Given the description of an element on the screen output the (x, y) to click on. 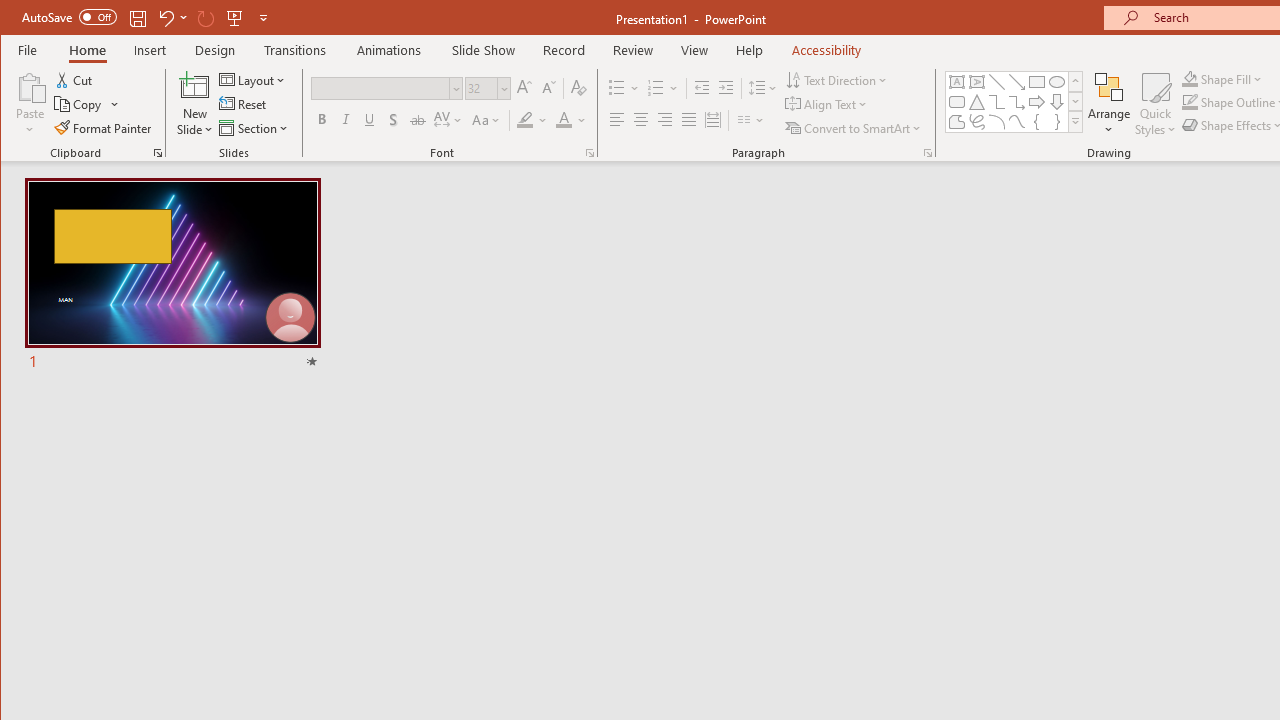
Distributed (712, 119)
Arrow: Right (1036, 102)
Font Color (571, 119)
